Given the description of an element on the screen output the (x, y) to click on. 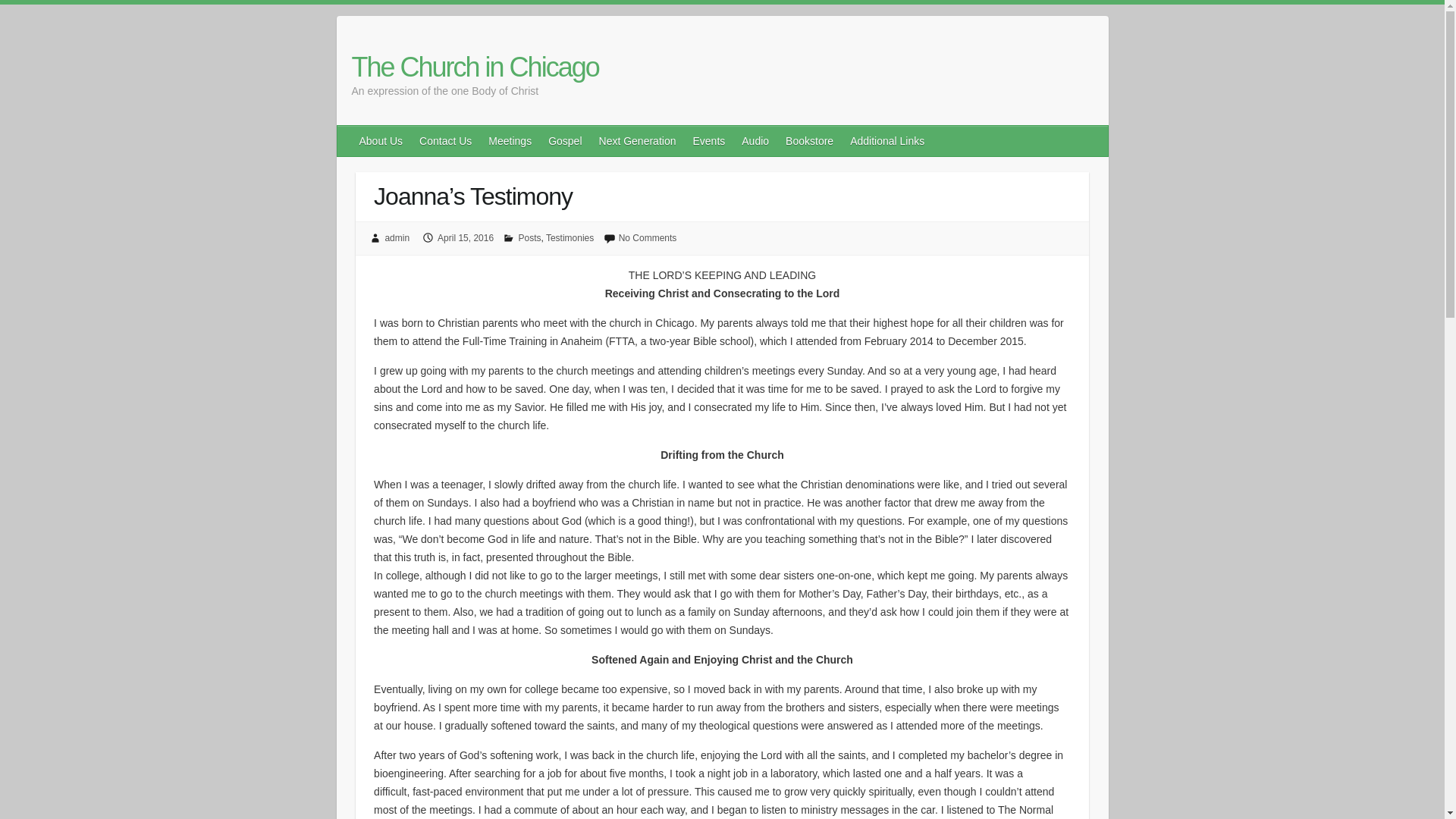
About Us (382, 141)
Meetings (510, 141)
Events (708, 141)
The Church in Chicago (475, 67)
Additional Links (888, 141)
Gospel (565, 141)
The Church in Chicago (475, 67)
Bookstore (810, 141)
Contact Us (446, 141)
Audio (755, 141)
Next Generation (638, 141)
